Given the description of an element on the screen output the (x, y) to click on. 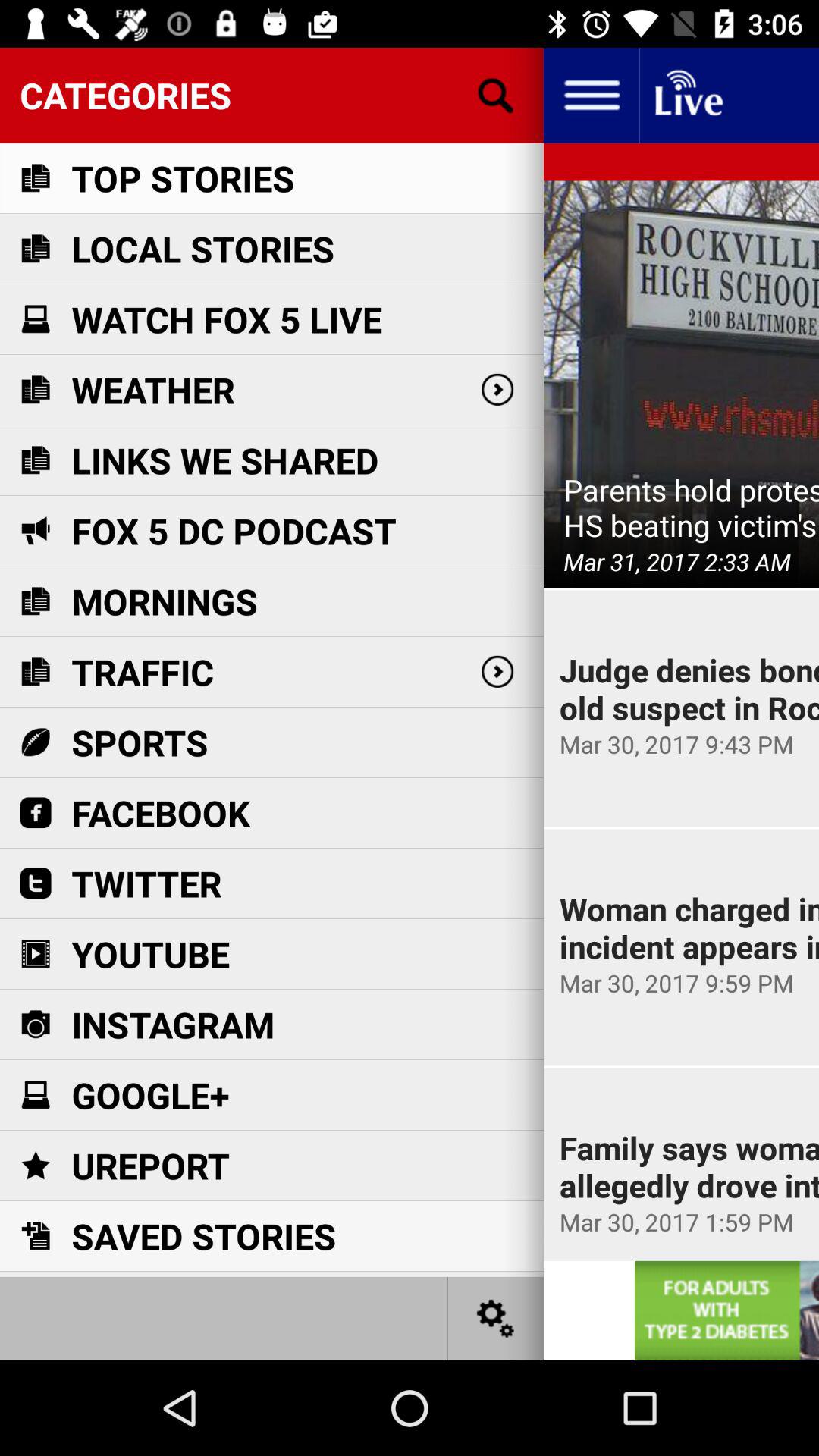
live option (687, 95)
